Given the description of an element on the screen output the (x, y) to click on. 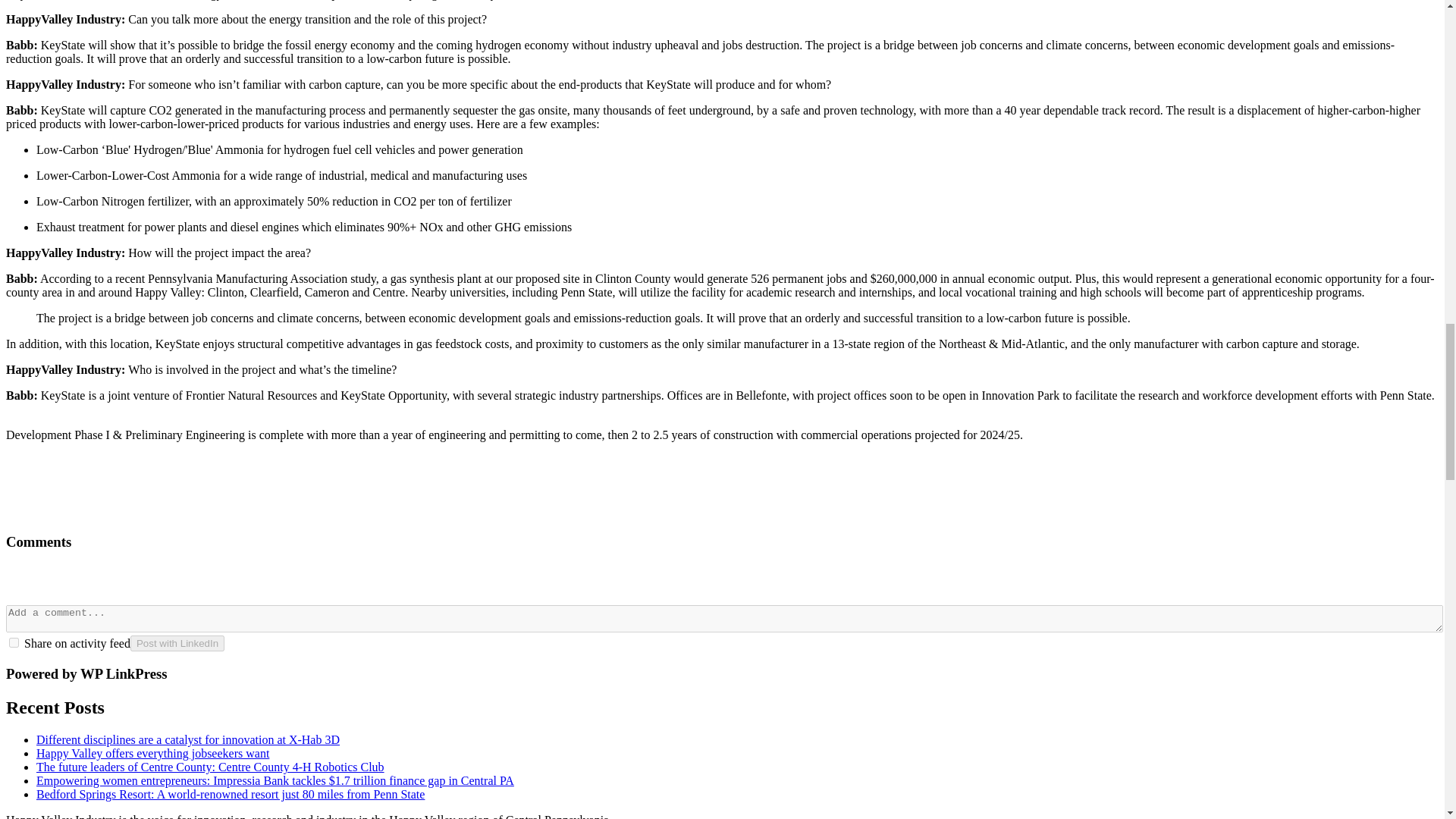
Post with LinkedIn (177, 643)
Happy Valley offers everything jobseekers want (152, 753)
on (13, 642)
